Given the description of an element on the screen output the (x, y) to click on. 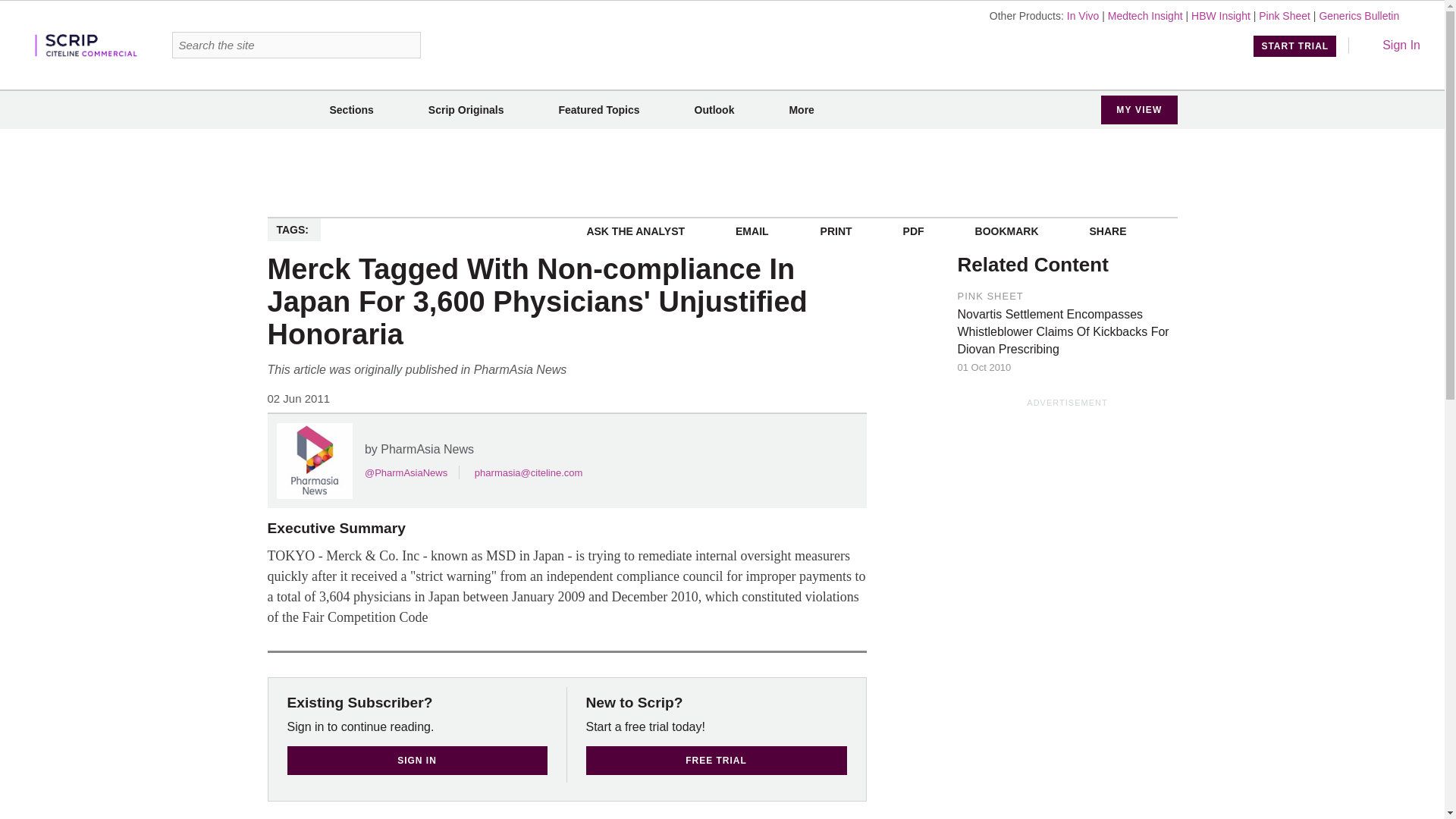
HBW Insight (1220, 15)
Generics Bulletin (1359, 15)
3rd party ad content (721, 172)
Medtech Insight (1145, 15)
Sign In (1391, 44)
In Vivo (1083, 15)
START TRIAL (1294, 46)
Pink Sheet (1284, 15)
